Given the description of an element on the screen output the (x, y) to click on. 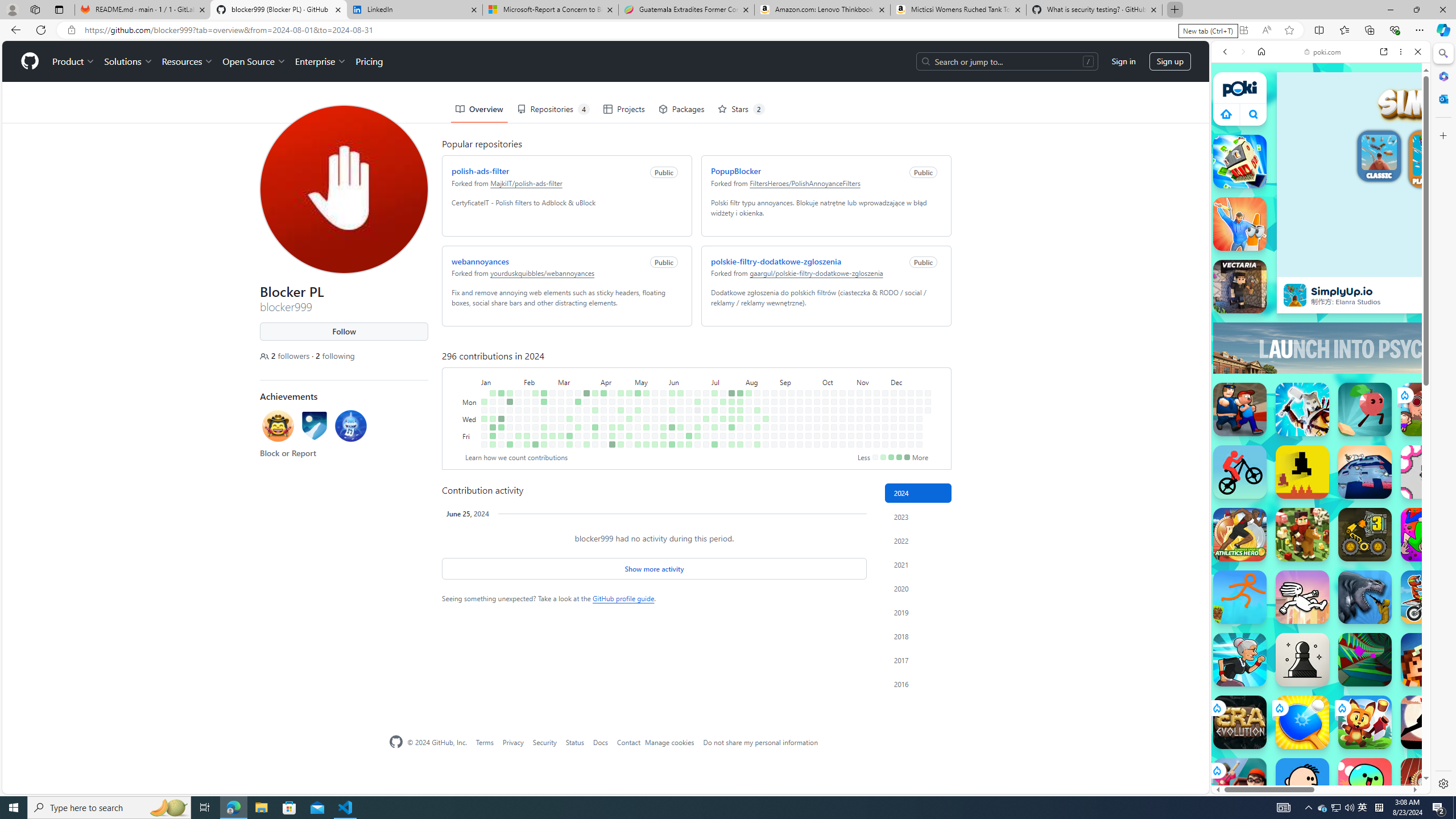
No contributions on November 3rd. (859, 392)
1 contribution on June 1st. (663, 444)
1 contribution on February 23rd. (543, 435)
6 contributions on March 15th. (569, 435)
Packages (681, 108)
yourduskquibbles/webannoyances (542, 272)
No contributions on February 12th. (535, 401)
Status (573, 741)
No contributions on November 14th. (867, 427)
Global web icon (1232, 755)
2021 (917, 564)
No contributions on October 18th. (834, 435)
January (500, 380)
No contributions on December 28th. (919, 444)
